Given the description of an element on the screen output the (x, y) to click on. 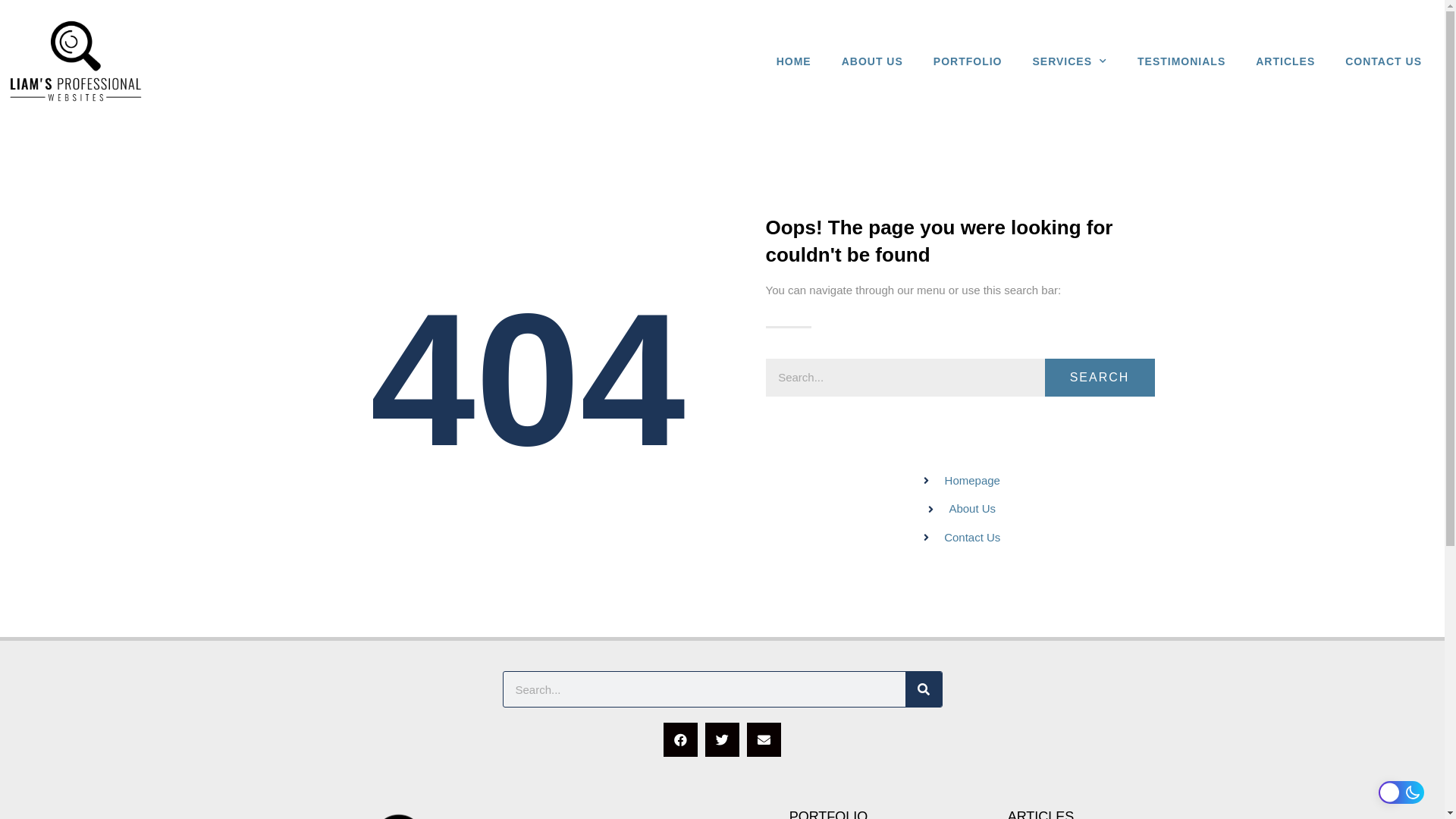
TESTIMONIALS Element type: text (1181, 61)
SERVICES Element type: text (1069, 61)
ARTICLES Element type: text (1285, 61)
PORTFOLIO Element type: text (967, 61)
SEARCH Element type: text (1099, 377)
Homepage Element type: text (959, 480)
ABOUT US Element type: text (872, 61)
CONTACT US Element type: text (1383, 61)
Contact Us Element type: text (959, 537)
HOME Element type: text (793, 61)
About Us Element type: text (959, 508)
